Given the description of an element on the screen output the (x, y) to click on. 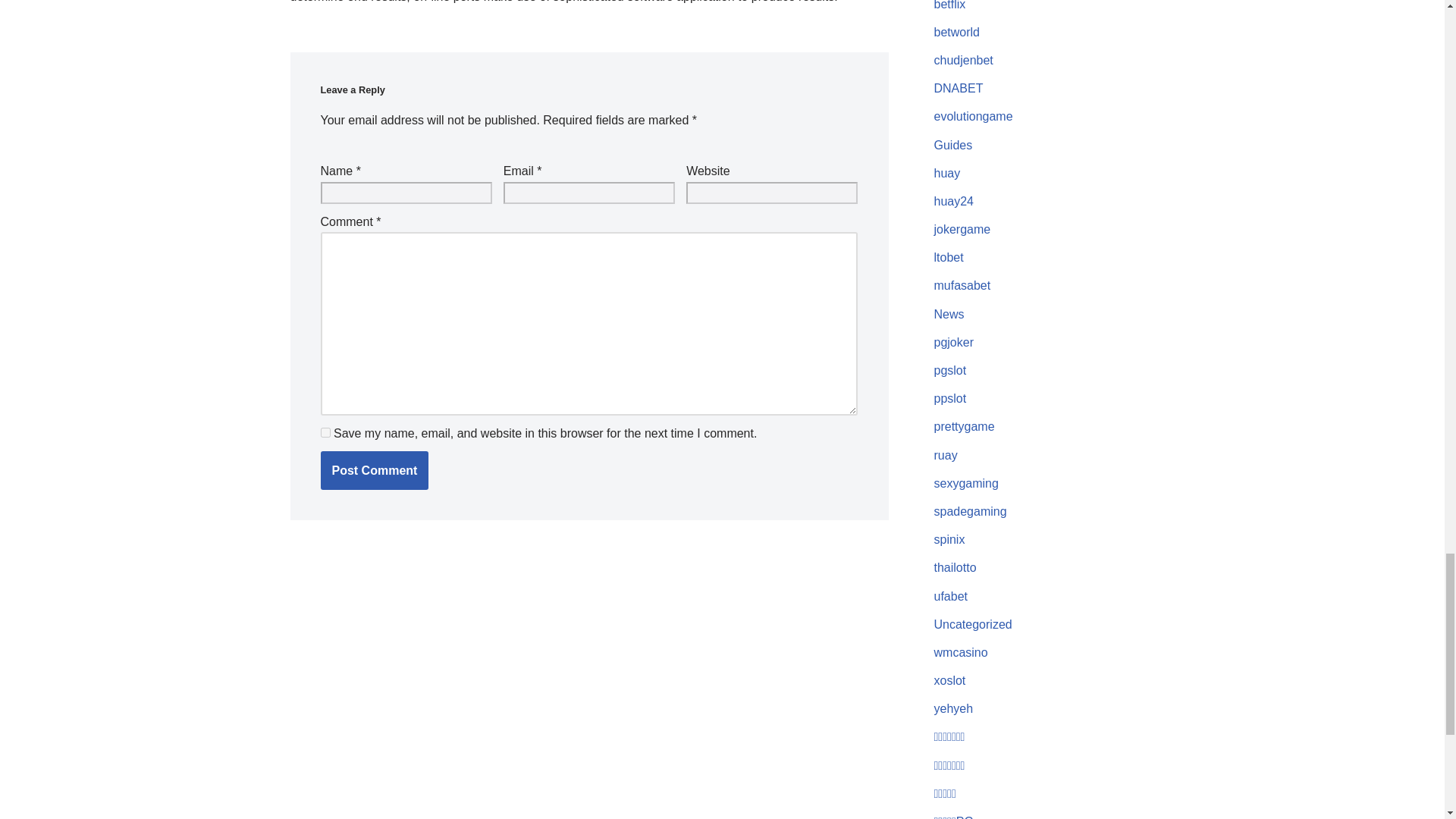
Post Comment (374, 470)
Post Comment (374, 470)
yes (325, 432)
